Given the description of an element on the screen output the (x, y) to click on. 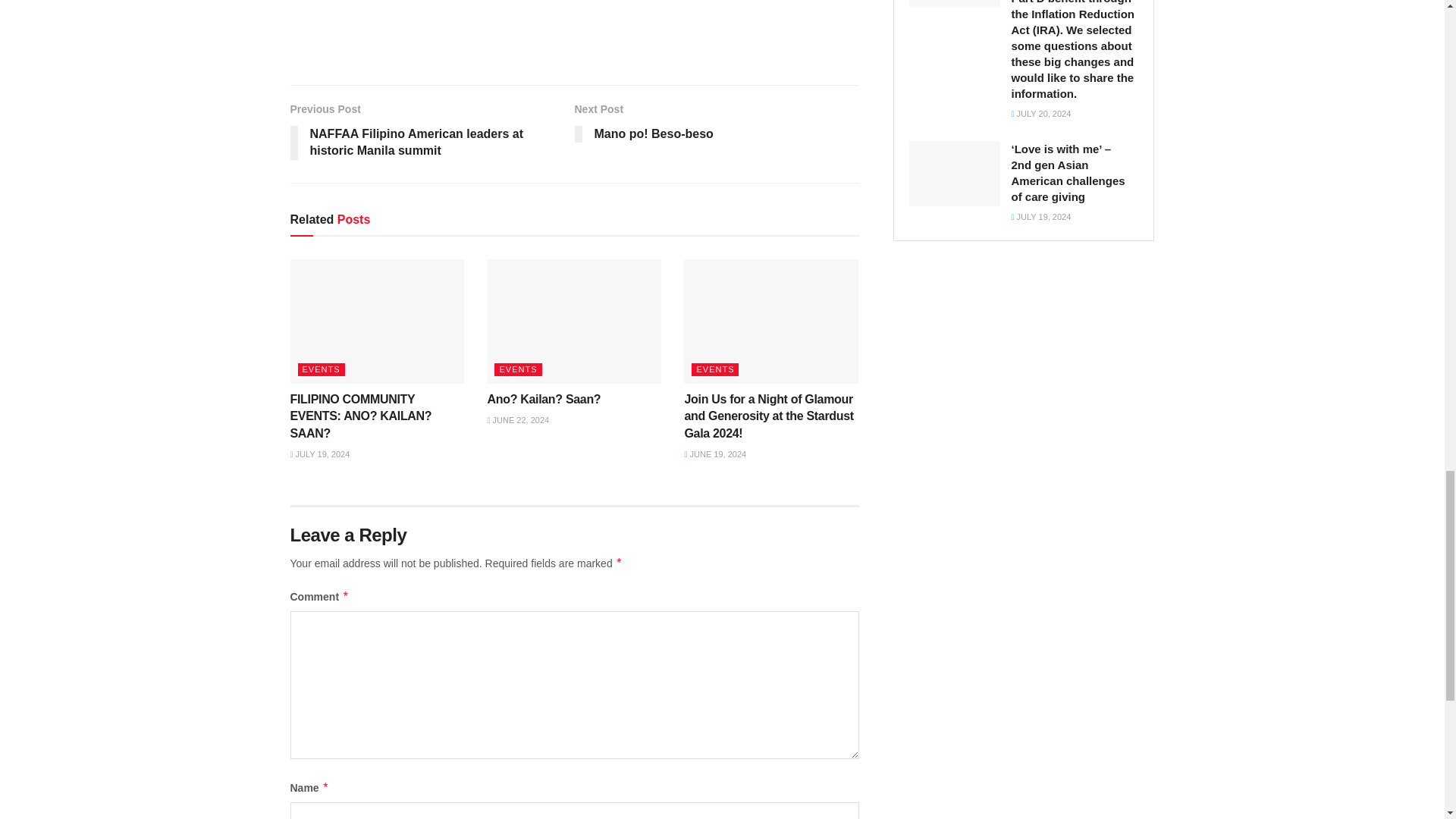
MYX Original: BOOKED Season 2 Trailer (574, 3)
